Given the description of an element on the screen output the (x, y) to click on. 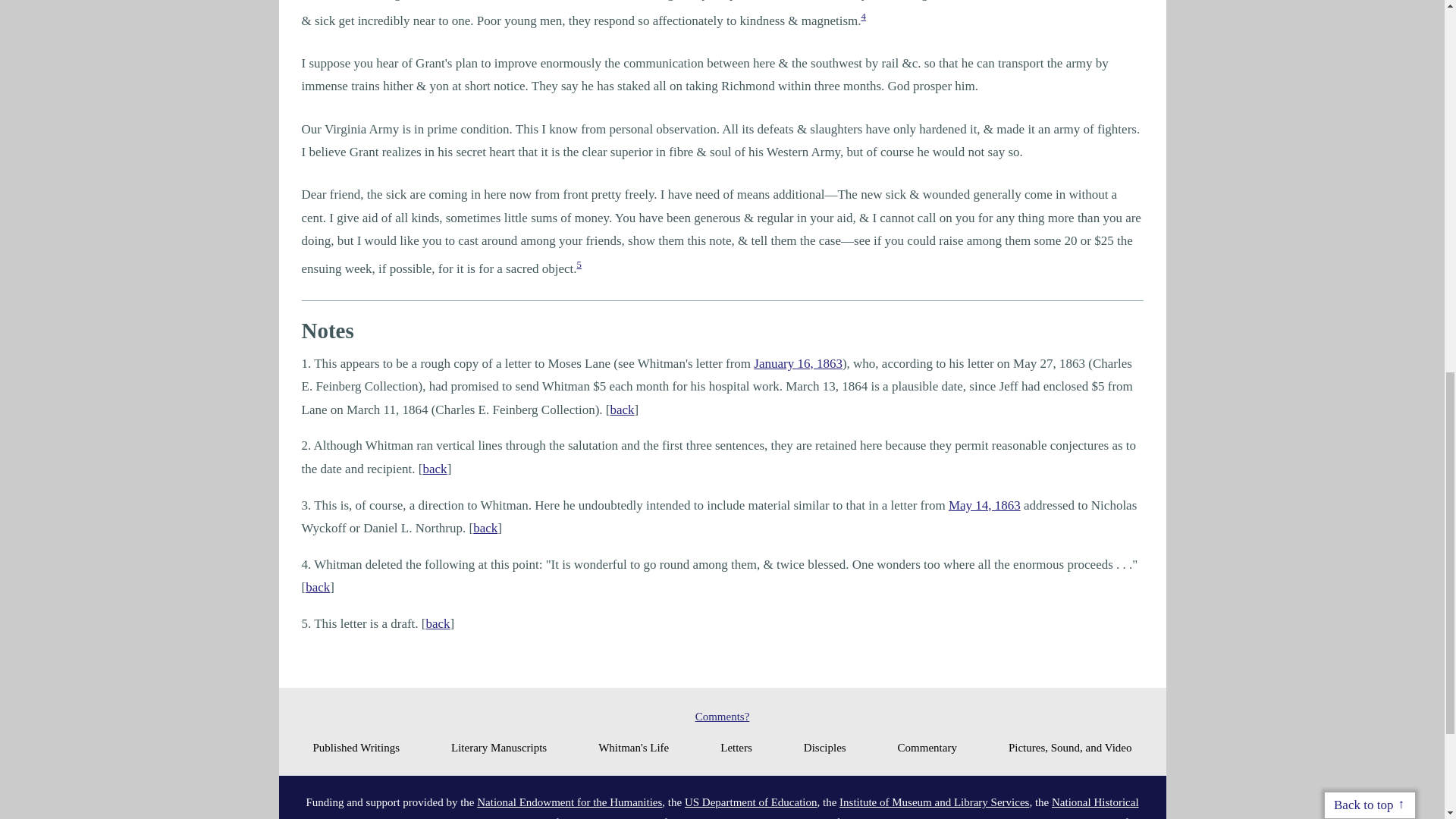
Literary Manuscripts (499, 747)
Commentary (927, 747)
Comments? (722, 716)
back (317, 586)
May 14, 1863 (984, 504)
Whitman's Life (633, 747)
January 16, 1863 (798, 363)
back (437, 623)
Pictures, Sound, and Video (1070, 747)
Letters (736, 747)
